Given the description of an element on the screen output the (x, y) to click on. 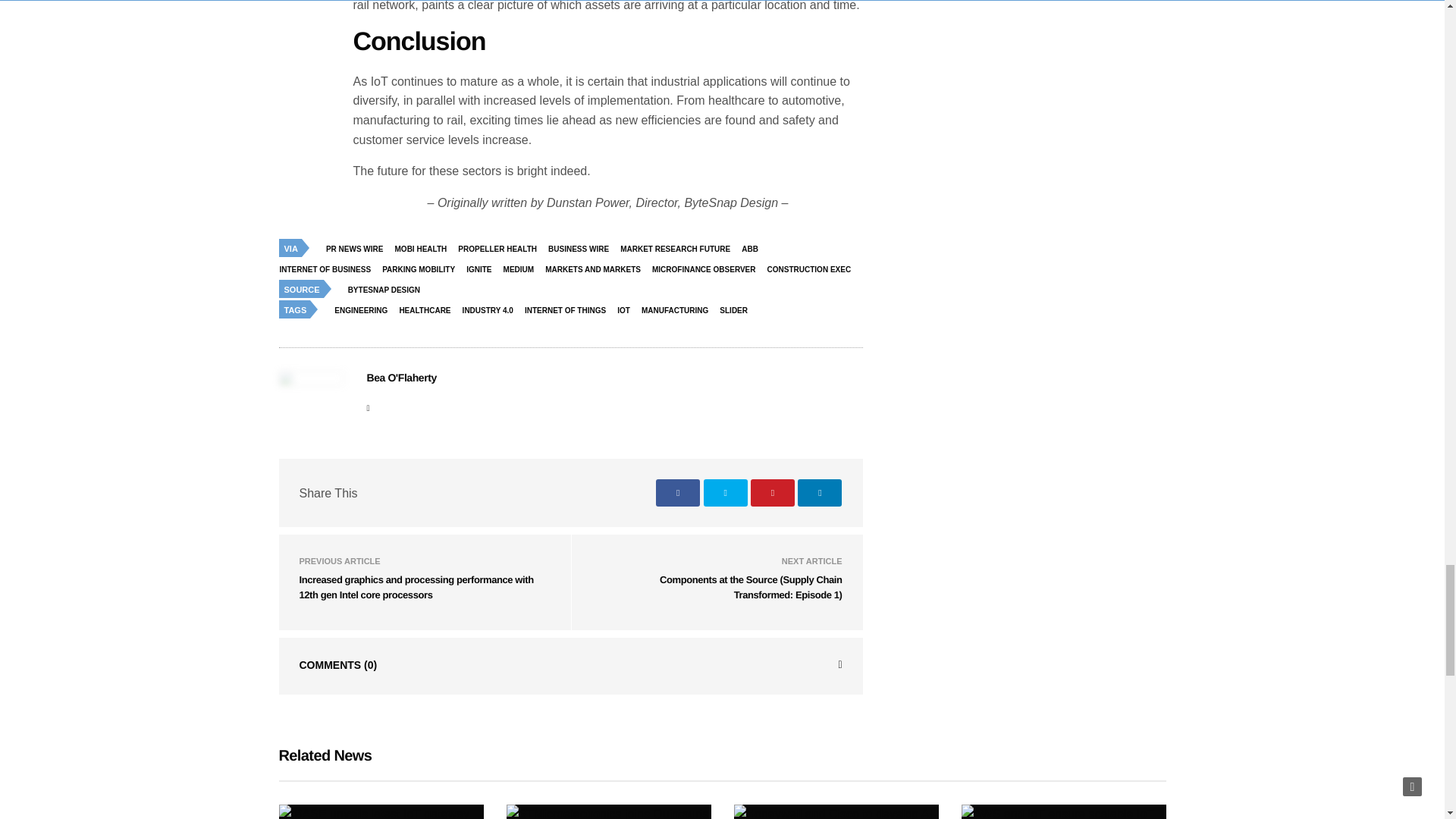
Market Research Future (679, 249)
ABB (754, 249)
Business Wire (582, 249)
Microfinance Observer (707, 269)
Parking Mobility (422, 269)
Mobi Health (424, 249)
Internet of Business (329, 269)
Markets and markets (596, 269)
Medium (522, 269)
Propeller Health (500, 249)
